Given the description of an element on the screen output the (x, y) to click on. 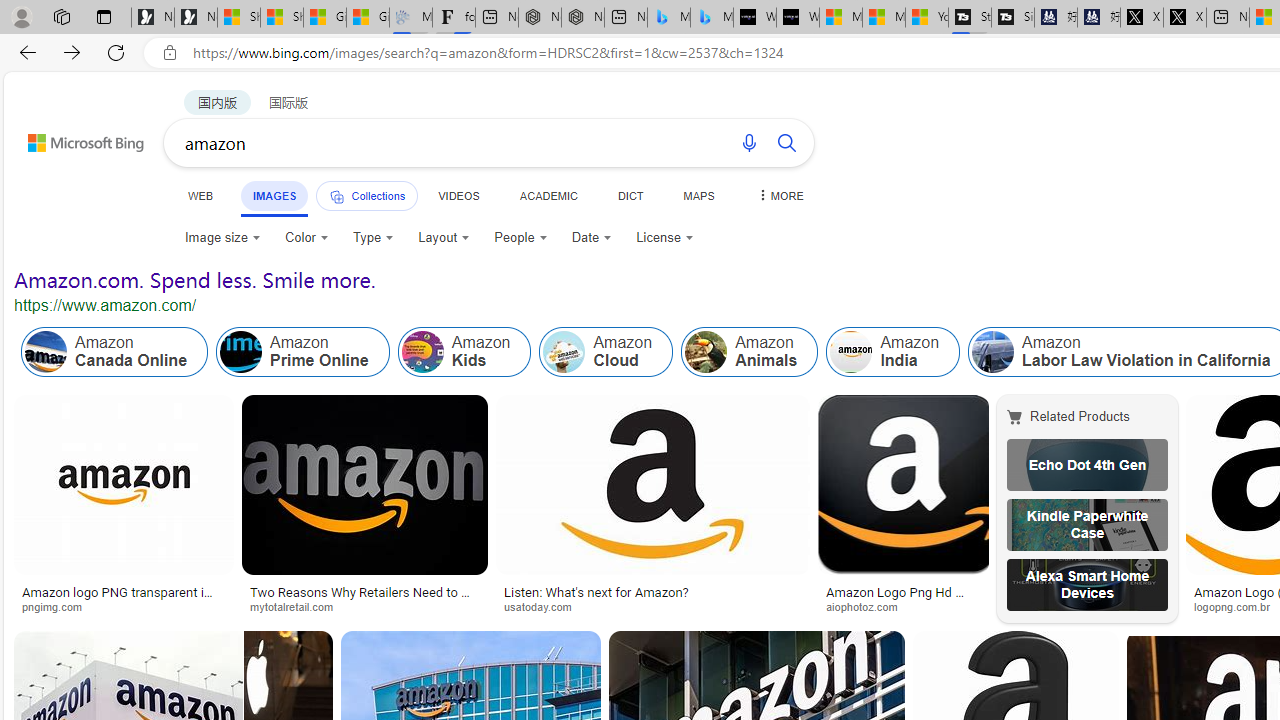
Amazon India (850, 351)
What's the best AI voice generator? - voice.ai (798, 17)
People (520, 237)
Microsoft Bing Travel - Shangri-La Hotel Bangkok (712, 17)
Search button (786, 142)
Gilma and Hector both pose tropical trouble for Hawaii (367, 17)
IMAGES (274, 195)
Type (372, 237)
Color (305, 237)
